Given the description of an element on the screen output the (x, y) to click on. 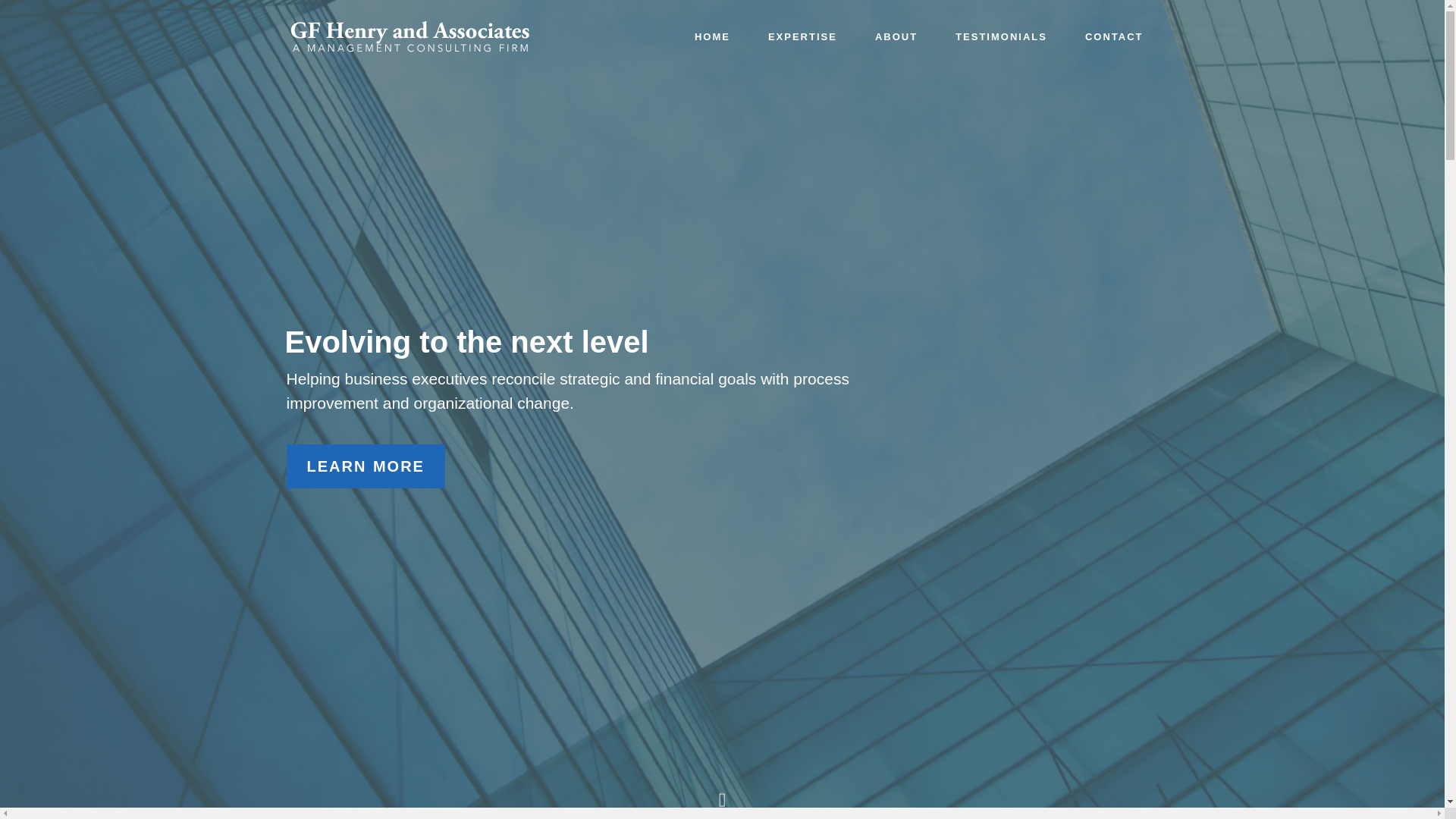
EXPERTISE (801, 37)
HOME (712, 37)
TESTIMONIALS (1001, 37)
CONTACT (1114, 37)
ABOUT (896, 37)
